Given the description of an element on the screen output the (x, y) to click on. 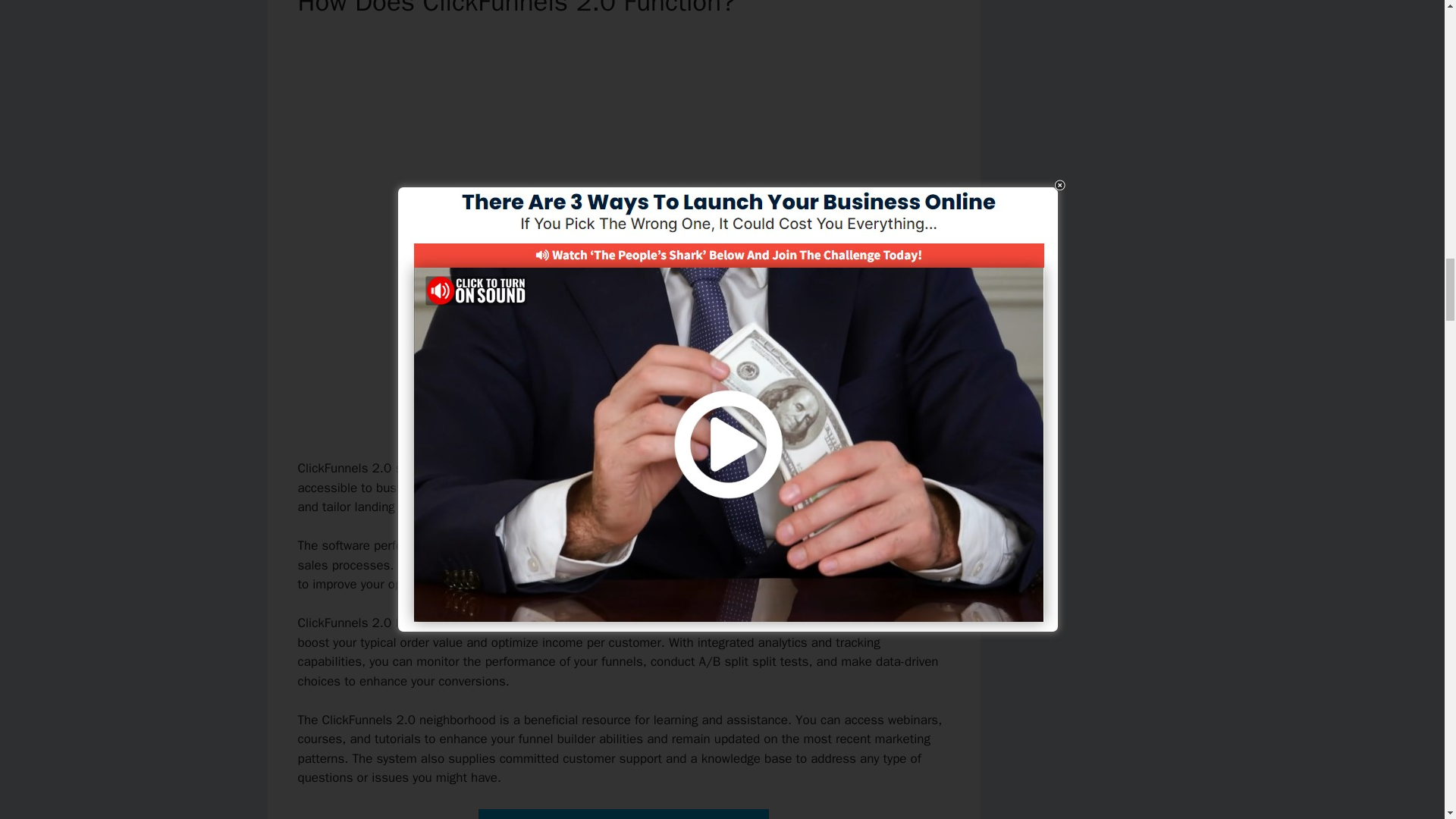
Build Sales Funnel In 5 Day Today (623, 814)
